Given the description of an element on the screen output the (x, y) to click on. 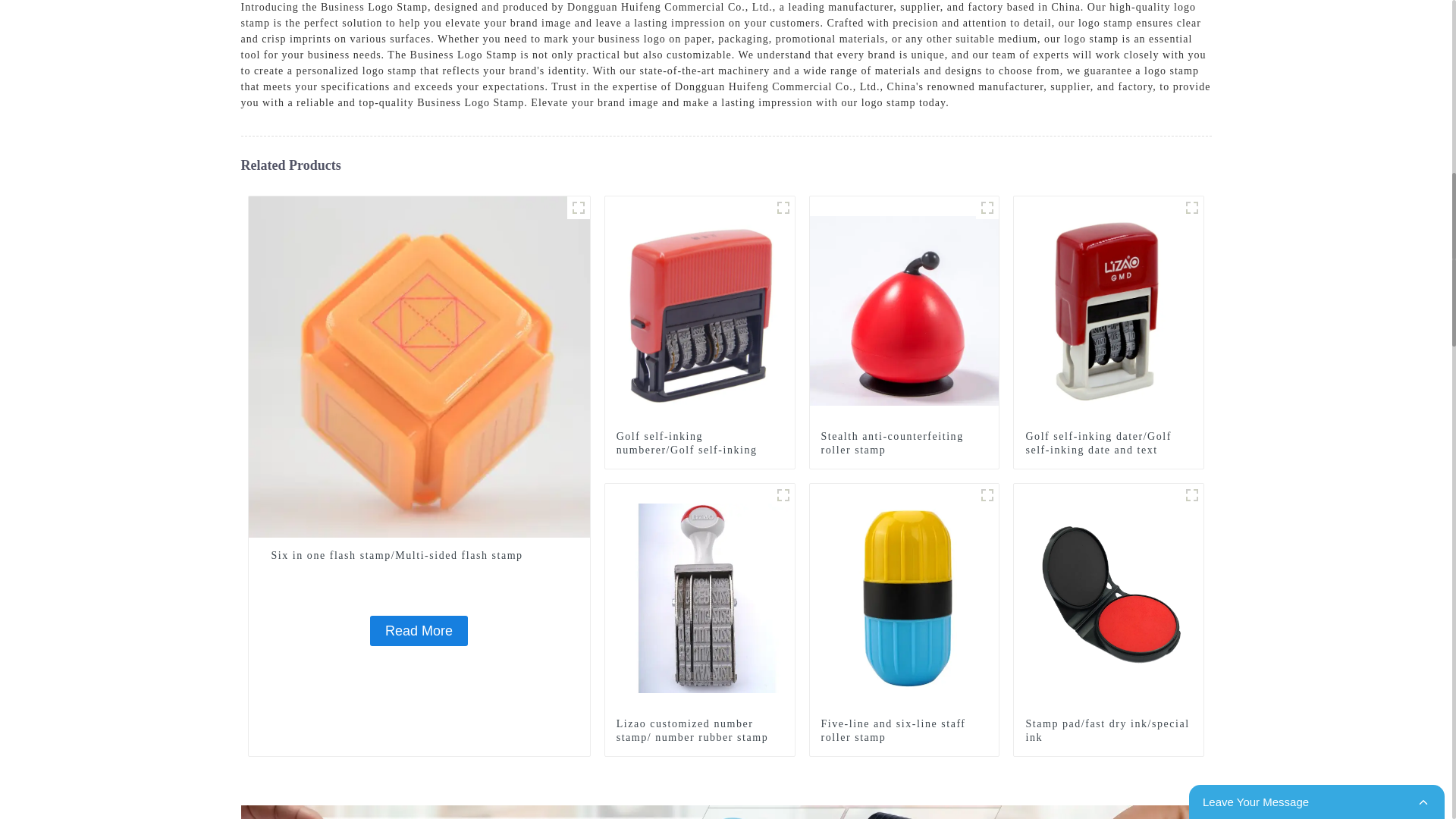
Stealth anti-counterfeiting Roller stamp1 (986, 207)
Five-line and six-line staff roller stamp (904, 730)
Five-line and six-line staff roller stamp (903, 597)
Stealth anti-counterfeiting roller stamp (904, 443)
Stealth anti-counterfeiting roller stamp (903, 309)
five-line and six-line staff Roller stamp 1 (986, 495)
Six in one flash stamp 1 (578, 207)
Stealth anti-counterfeiting roller stamp (904, 443)
Read More (418, 630)
